Given the description of an element on the screen output the (x, y) to click on. 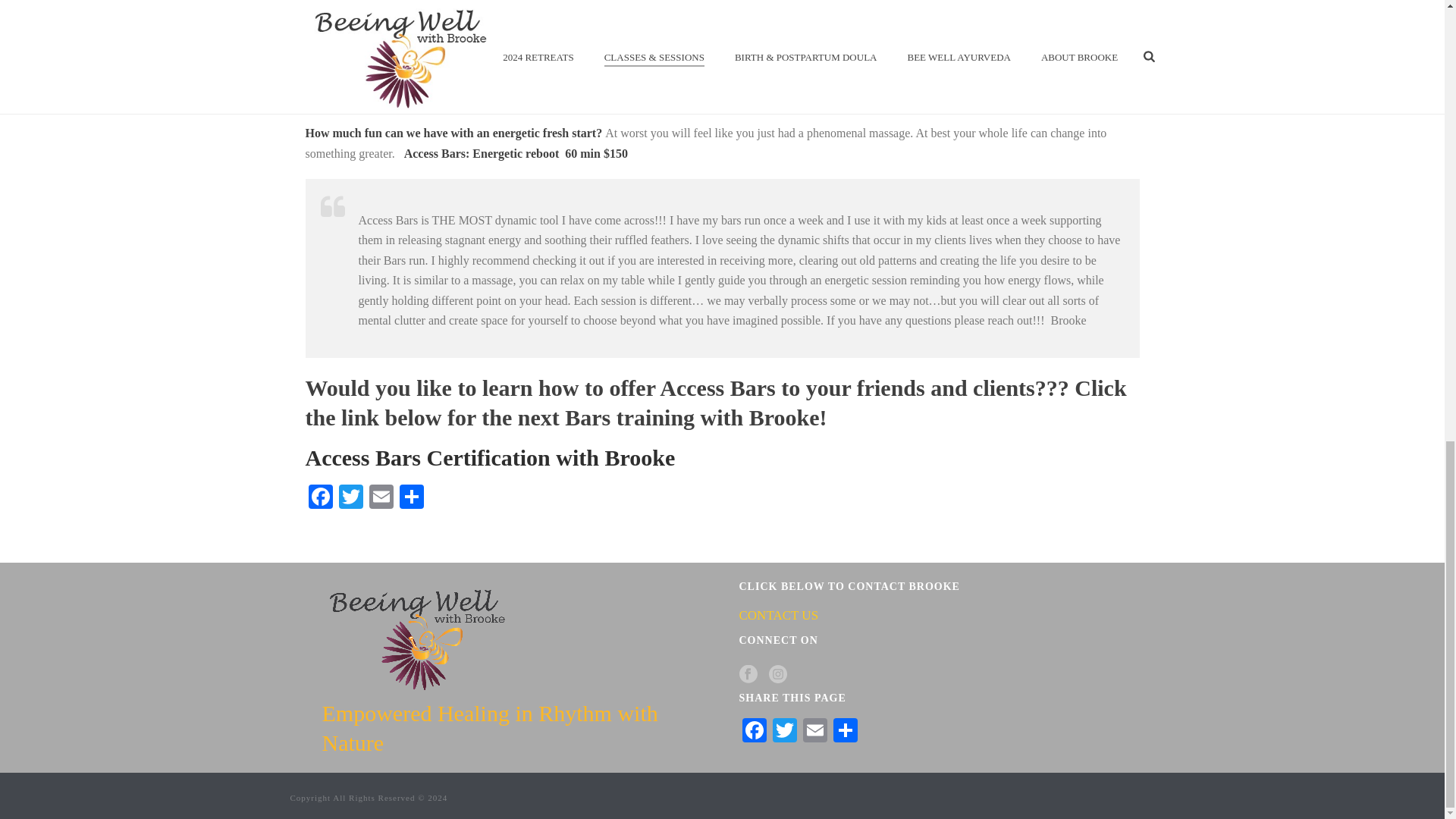
Facebook (319, 498)
Email (380, 498)
Connect On instagram (777, 675)
Email (814, 732)
Twitter (783, 732)
Connect On facebook (747, 675)
Twitter (349, 498)
Facebook (753, 732)
